Given the description of an element on the screen output the (x, y) to click on. 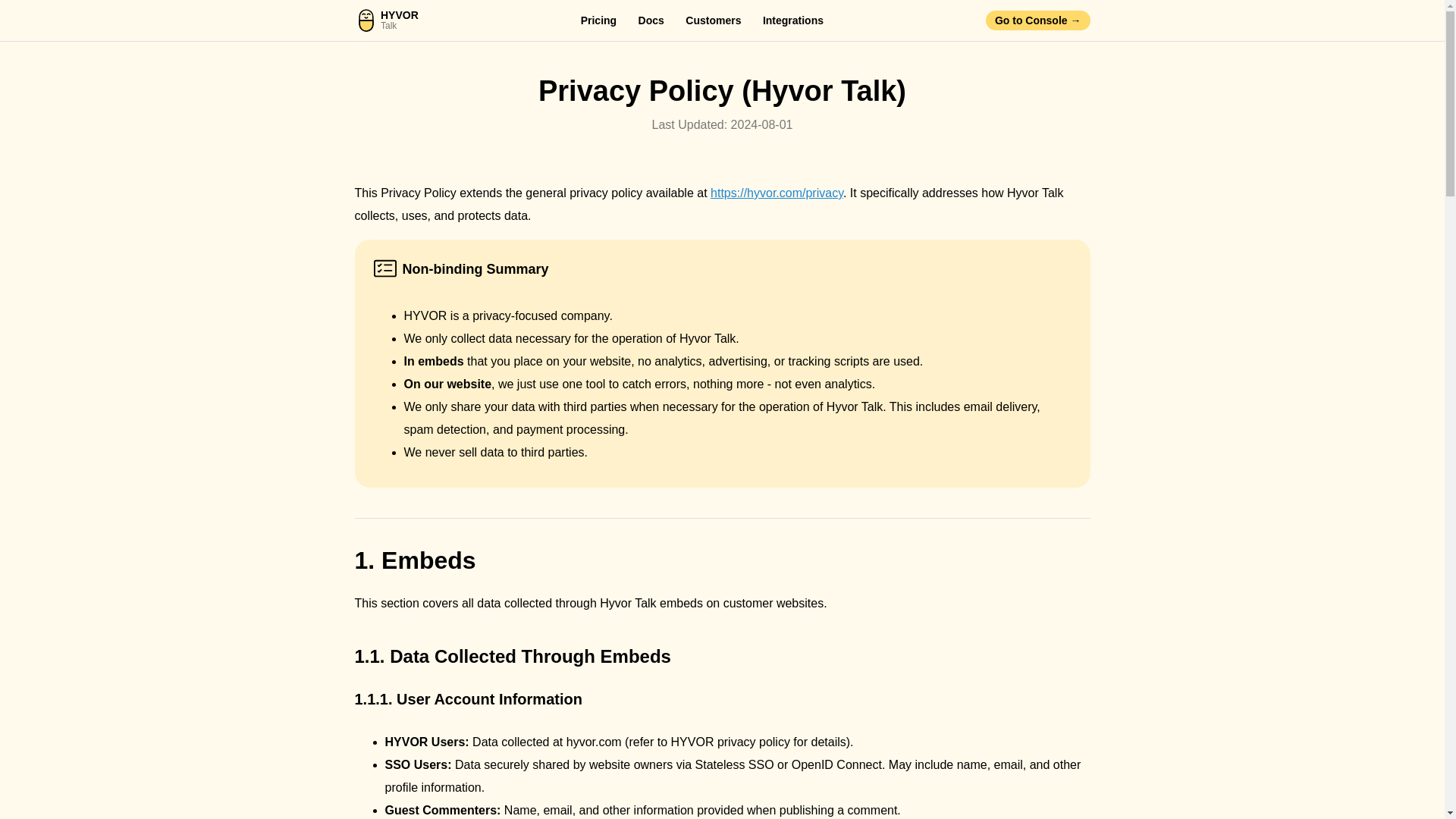
Docs (650, 20)
Customers (713, 20)
Integrations (387, 20)
Pricing (793, 20)
